Given the description of an element on the screen output the (x, y) to click on. 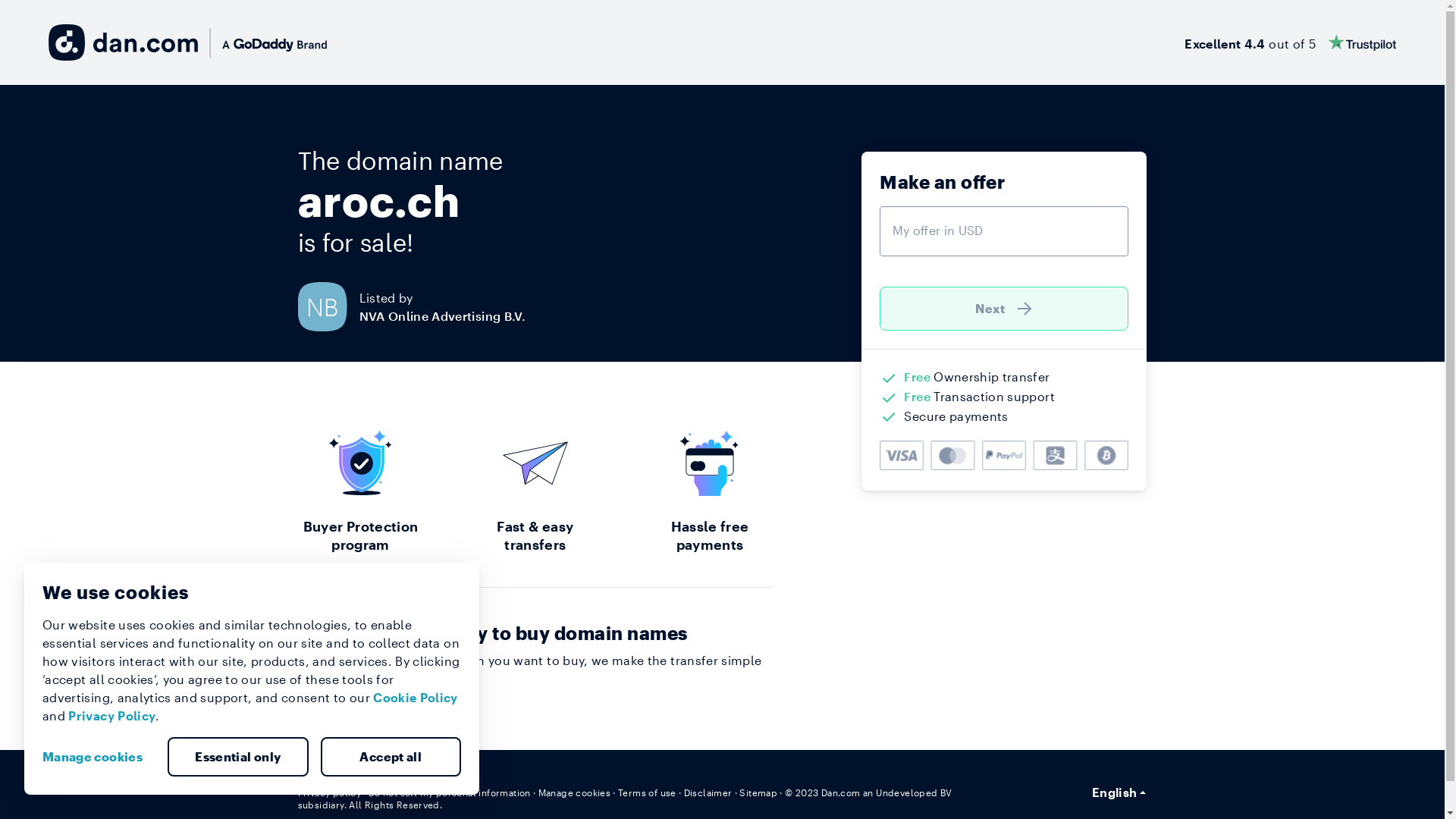
Next
) Element type: text (1003, 308)
Cookie Policy Element type: text (415, 697)
Privacy policy Element type: text (328, 792)
Manage cookies Element type: text (574, 792)
Manage cookies Element type: text (98, 756)
Terms of use Element type: text (647, 792)
Do not sell my personal information Element type: text (449, 792)
Accept all Element type: text (390, 756)
English Element type: text (1119, 792)
Essential only Element type: text (237, 756)
Disclaimer Element type: text (708, 792)
Privacy Policy Element type: text (111, 715)
Excellent 4.4 out of 5 Element type: text (1290, 42)
Sitemap Element type: text (758, 792)
